Given the description of an element on the screen output the (x, y) to click on. 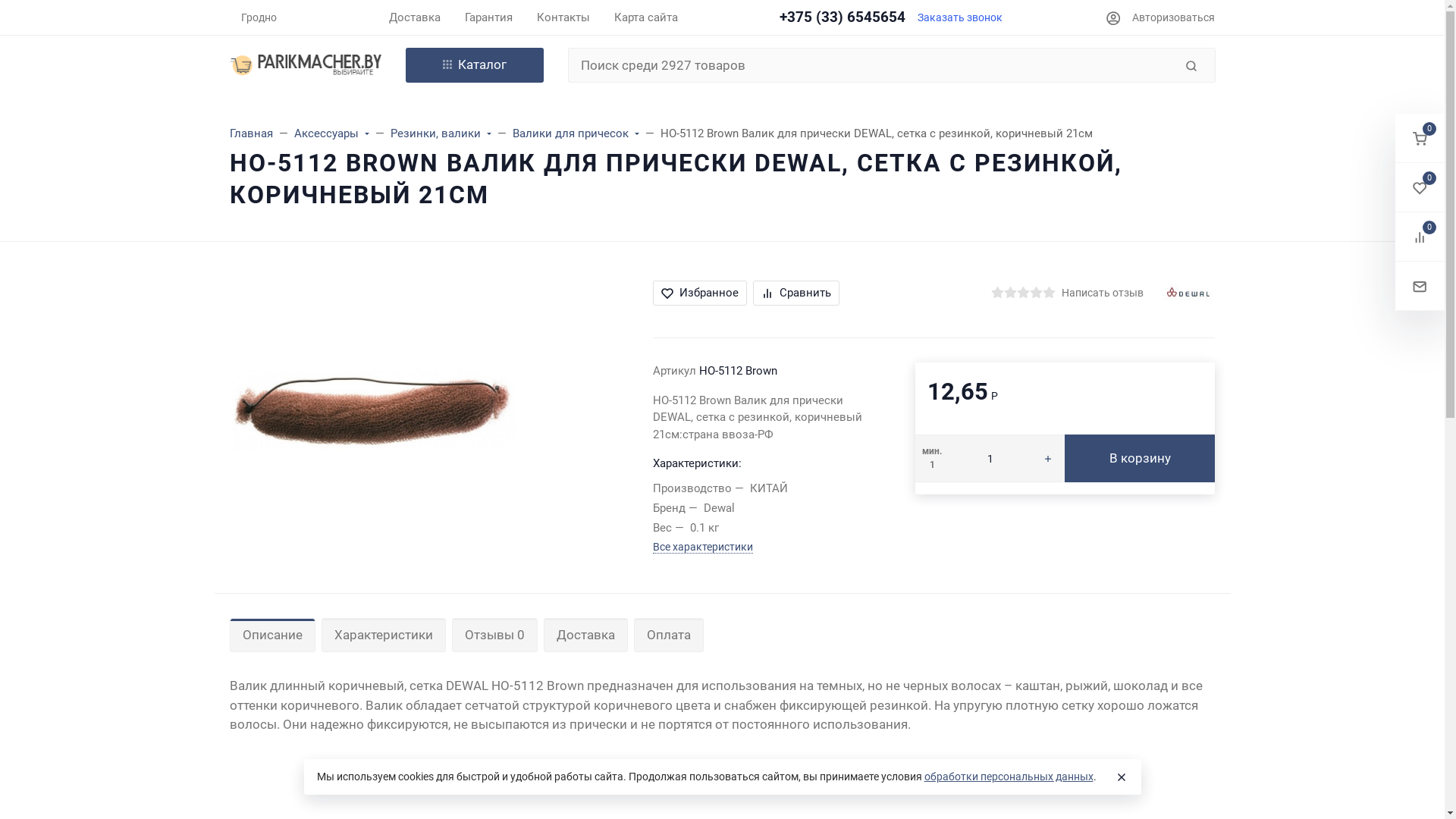
+375 (33) 6545654 Element type: text (842, 16)
Parikmacher.by Element type: hover (304, 65)
0 Element type: text (1419, 236)
0 Element type: text (1419, 138)
0 Element type: text (1419, 187)
